Given the description of an element on the screen output the (x, y) to click on. 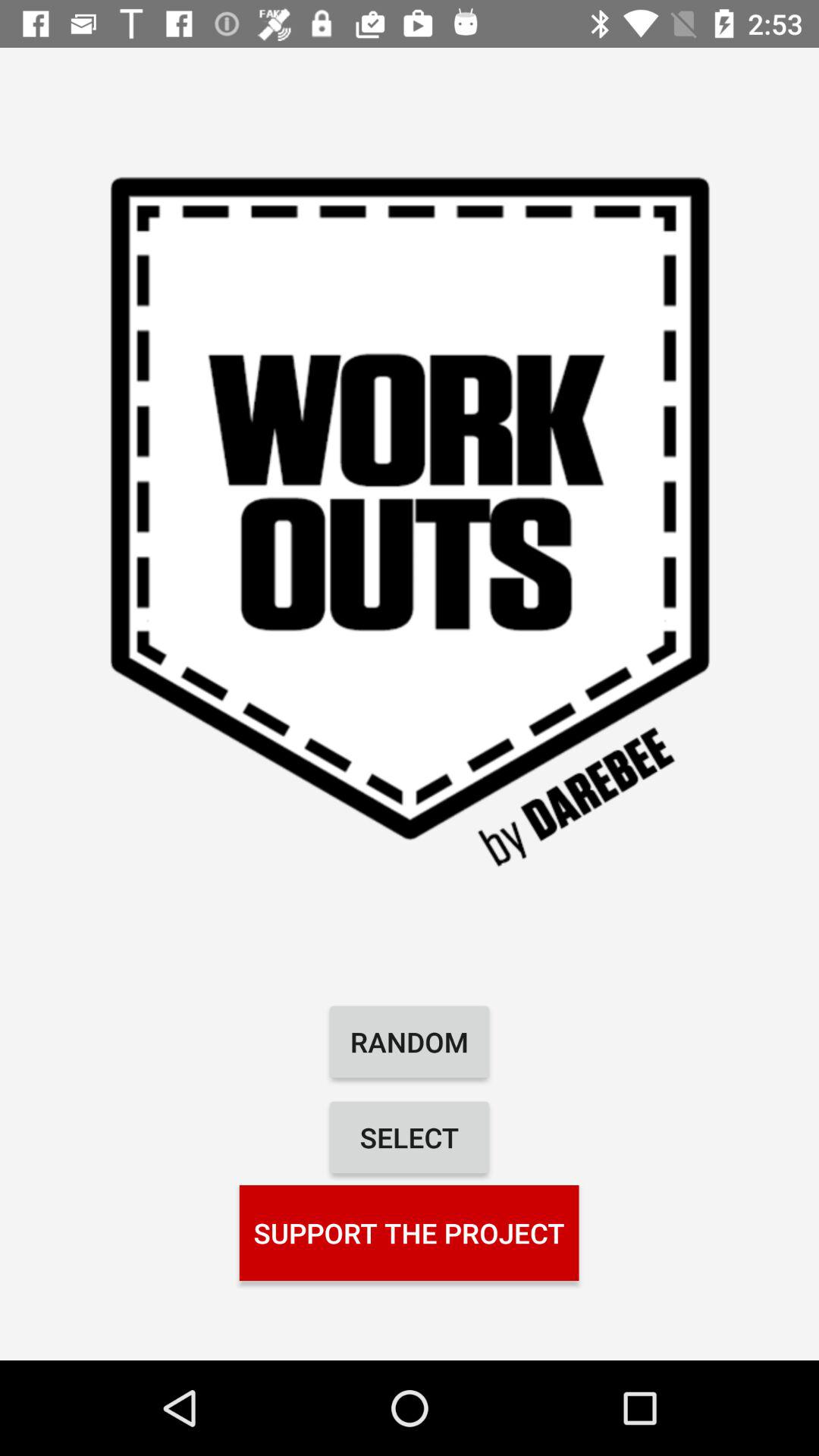
press random (409, 1041)
